Given the description of an element on the screen output the (x, y) to click on. 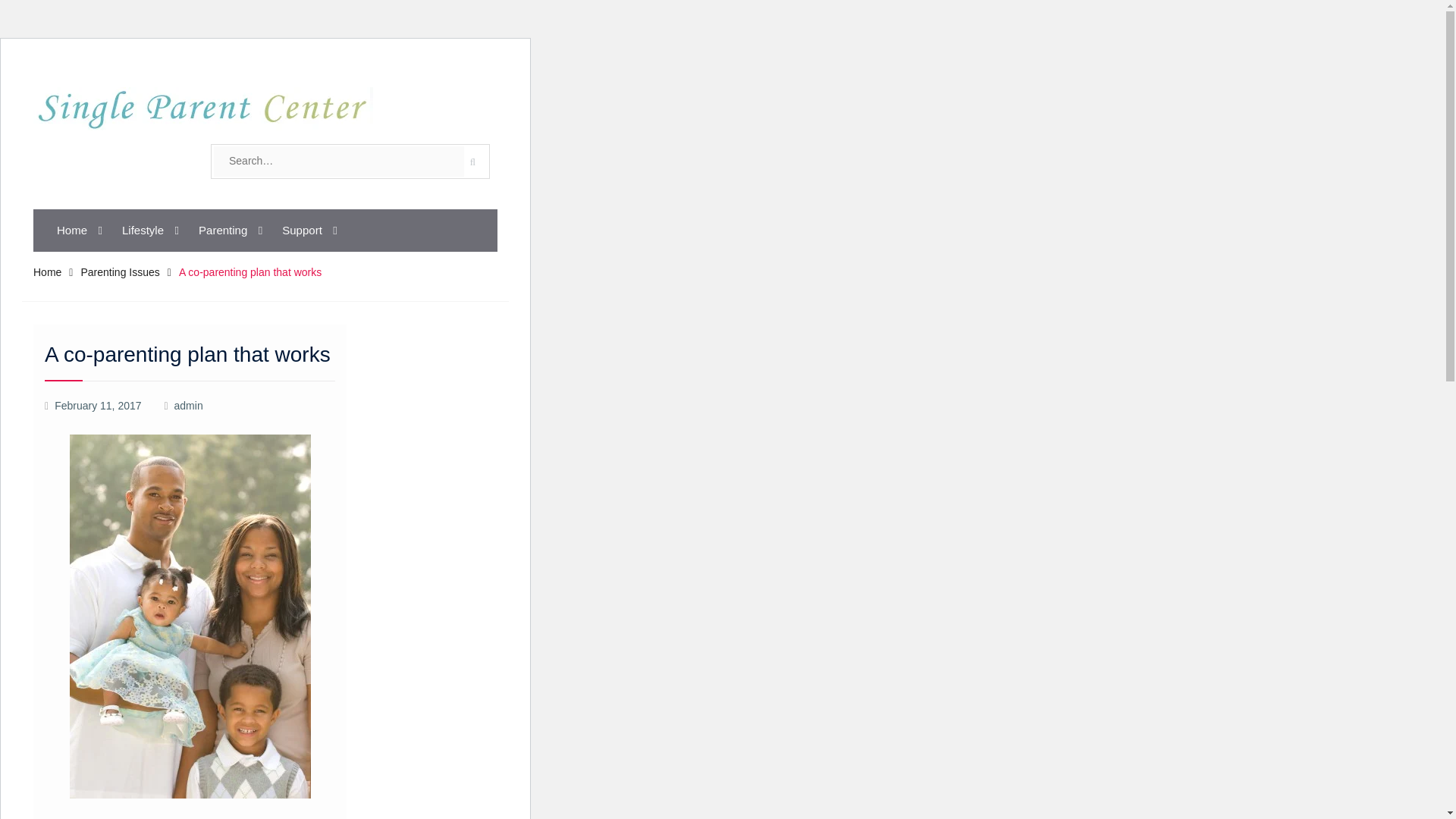
Support (307, 230)
Lifestyle (148, 230)
Parenting (227, 230)
Search for: (339, 161)
Home (77, 230)
